Given the description of an element on the screen output the (x, y) to click on. 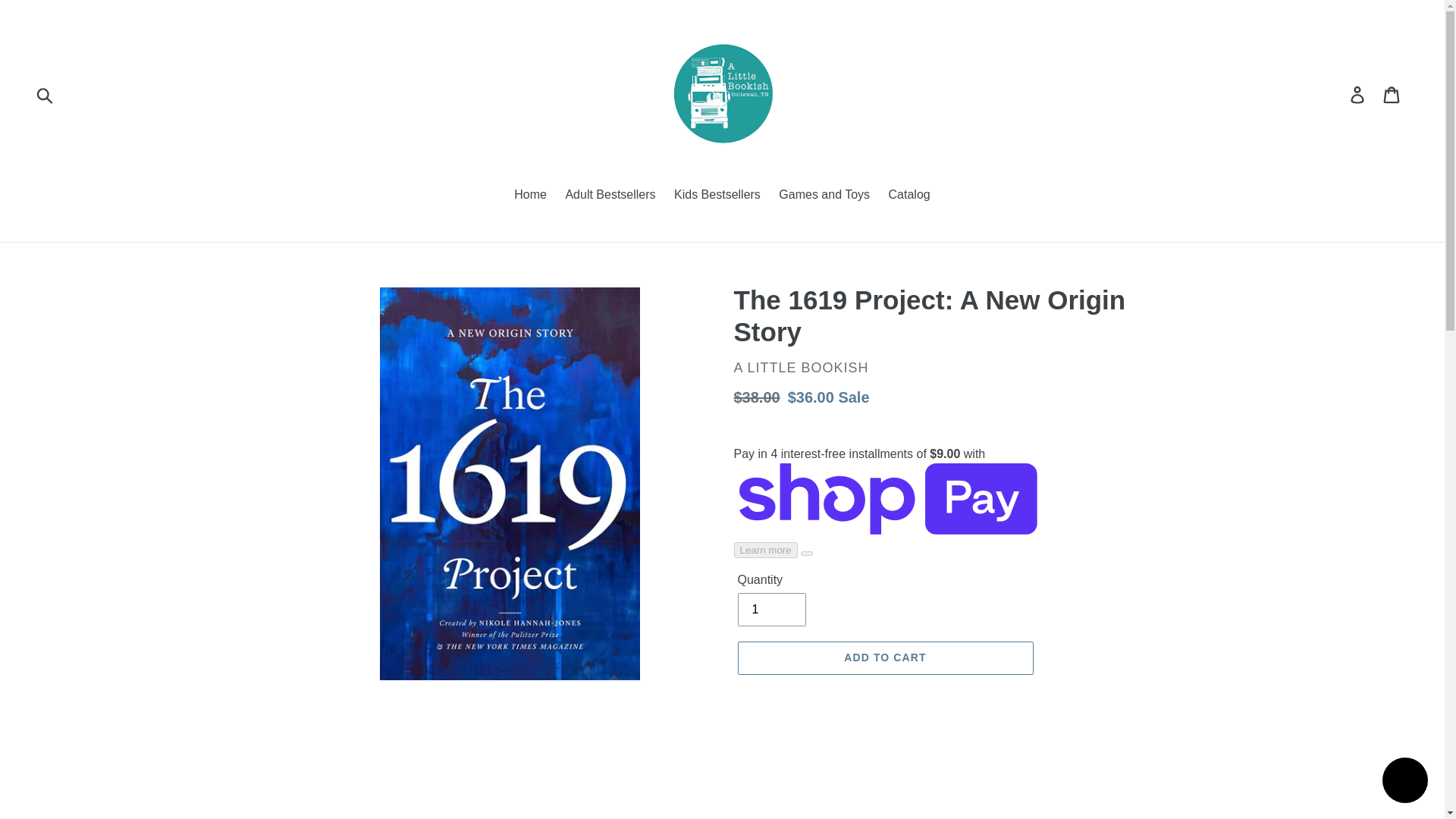
Kids Bestsellers (717, 195)
Submit (45, 94)
ADD TO CART (884, 657)
Log in (1357, 94)
Shopify online store chat (1404, 781)
1 (770, 609)
Adult Bestsellers (609, 195)
Cart (1392, 94)
Catalog (908, 195)
Home (530, 195)
Games and Toys (824, 195)
